Given the description of an element on the screen output the (x, y) to click on. 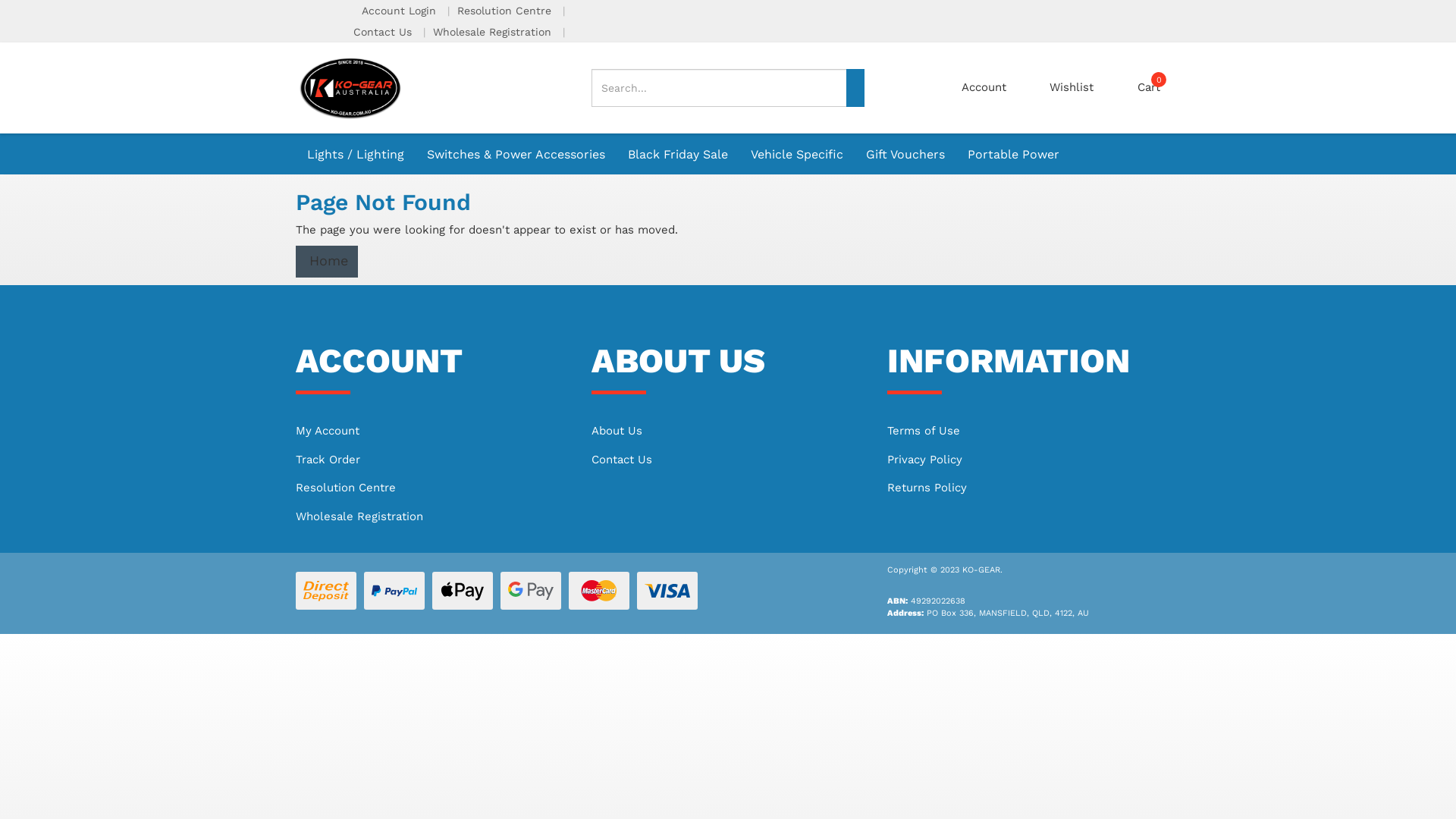
Home Element type: text (326, 260)
Gift Vouchers Element type: text (905, 153)
Account Element type: text (983, 87)
Contact Us Element type: text (384, 31)
Vehicle Specific Element type: text (796, 153)
Wholesale Registration Element type: text (494, 31)
Resolution Centre Element type: text (506, 10)
Account Login Element type: text (400, 10)
Terms of Use Element type: text (1023, 431)
Switches & Power Accessories Element type: text (515, 153)
Black Friday Sale Element type: text (677, 153)
Returns Policy Element type: text (1023, 487)
KO-GEAR Element type: hover (349, 87)
Privacy Policy Element type: text (1023, 459)
Lights / Lighting Element type: text (355, 153)
Search Element type: text (855, 87)
About Us Element type: text (727, 431)
Resolution Centre Element type: text (431, 487)
My Account Element type: text (431, 431)
Portable Power Element type: text (1013, 153)
Track Order Element type: text (431, 459)
0
Cart Element type: text (1148, 87)
Wishlist Element type: text (1071, 87)
Contact Us Element type: text (727, 459)
Wholesale Registration Element type: text (431, 516)
